Given the description of an element on the screen output the (x, y) to click on. 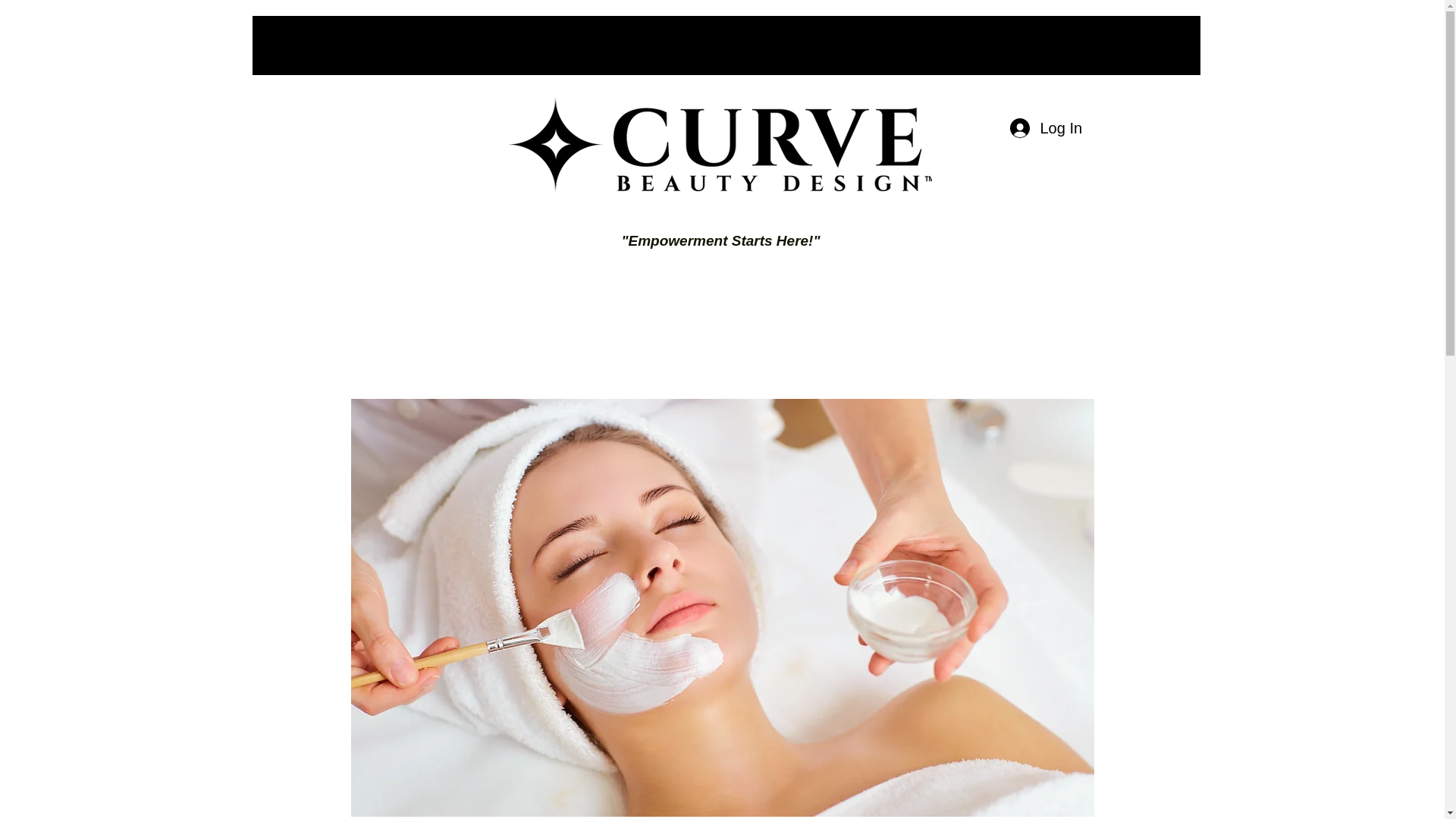
Log In (1044, 128)
